Given the description of an element on the screen output the (x, y) to click on. 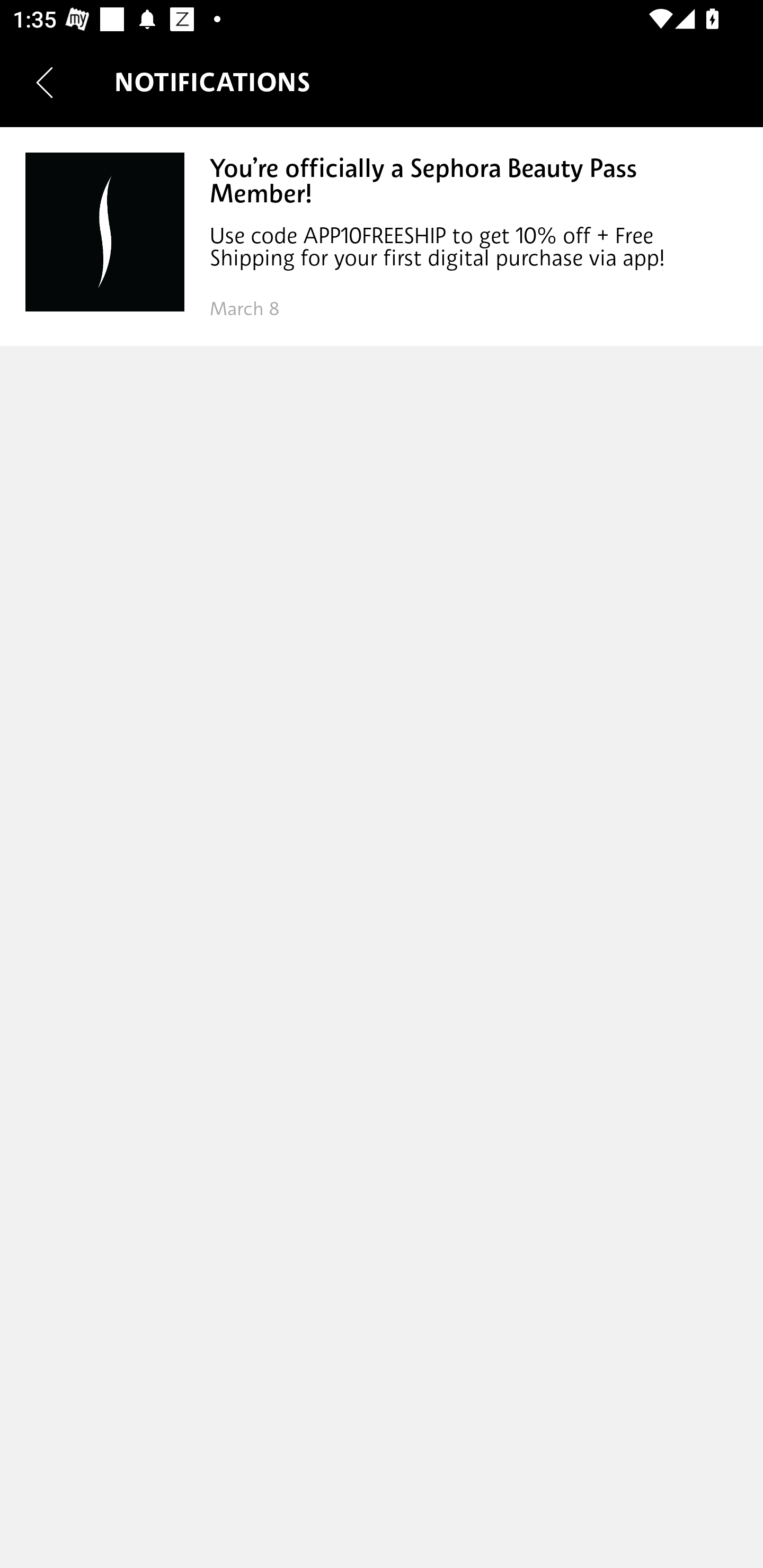
Navigate up (44, 82)
